Given the description of an element on the screen output the (x, y) to click on. 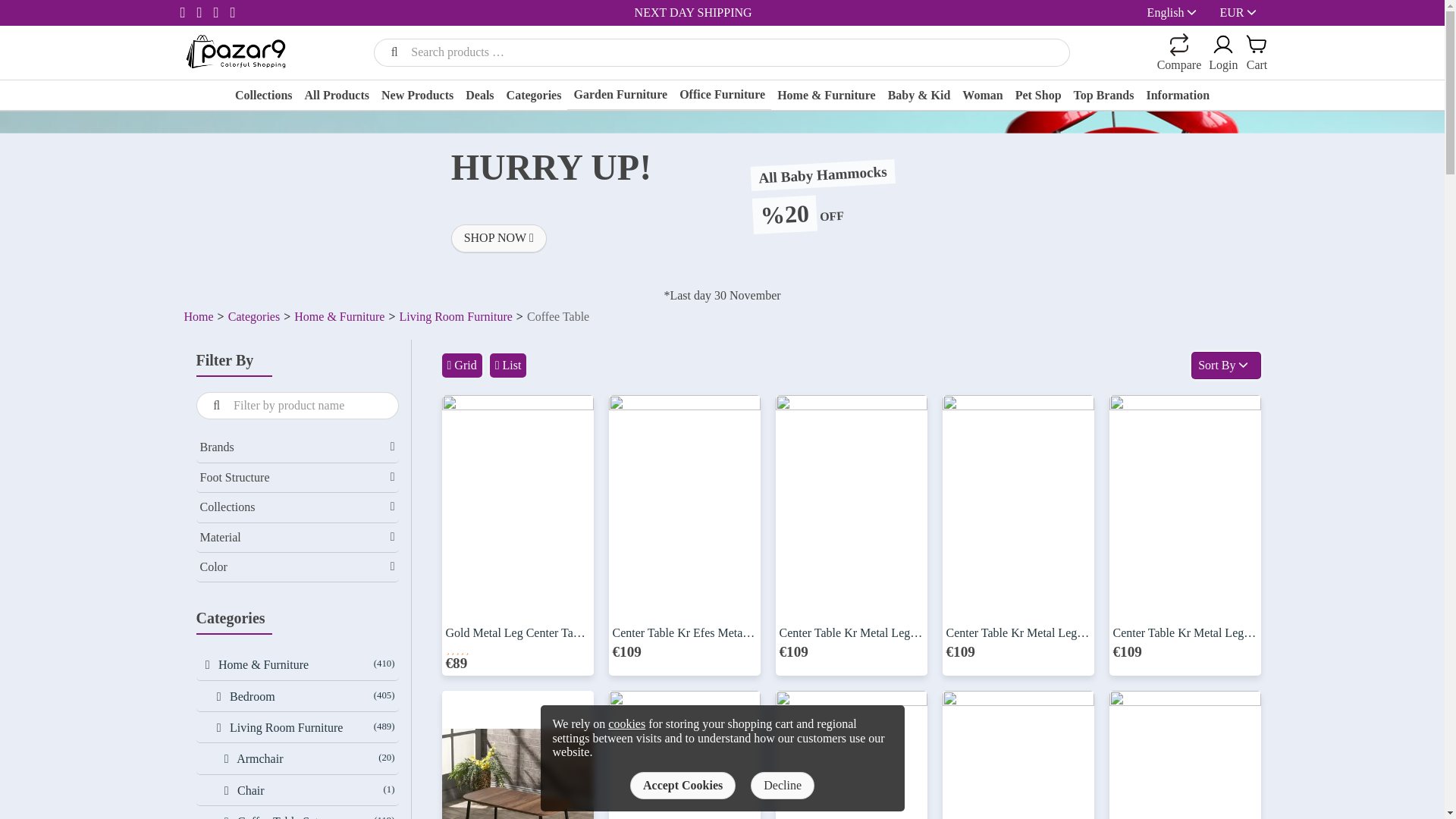
Collections (263, 97)
Accept Cookies (682, 785)
EUR (1244, 11)
English (1166, 11)
Decline (782, 785)
Center Table Metal Leg Ellipse White (850, 755)
Center Table Walnut Metal Leg Kr (516, 755)
Pazar9 (234, 50)
Center Table Metal Leg Ellipse Walnut (1017, 755)
cookies (626, 723)
